Given the description of an element on the screen output the (x, y) to click on. 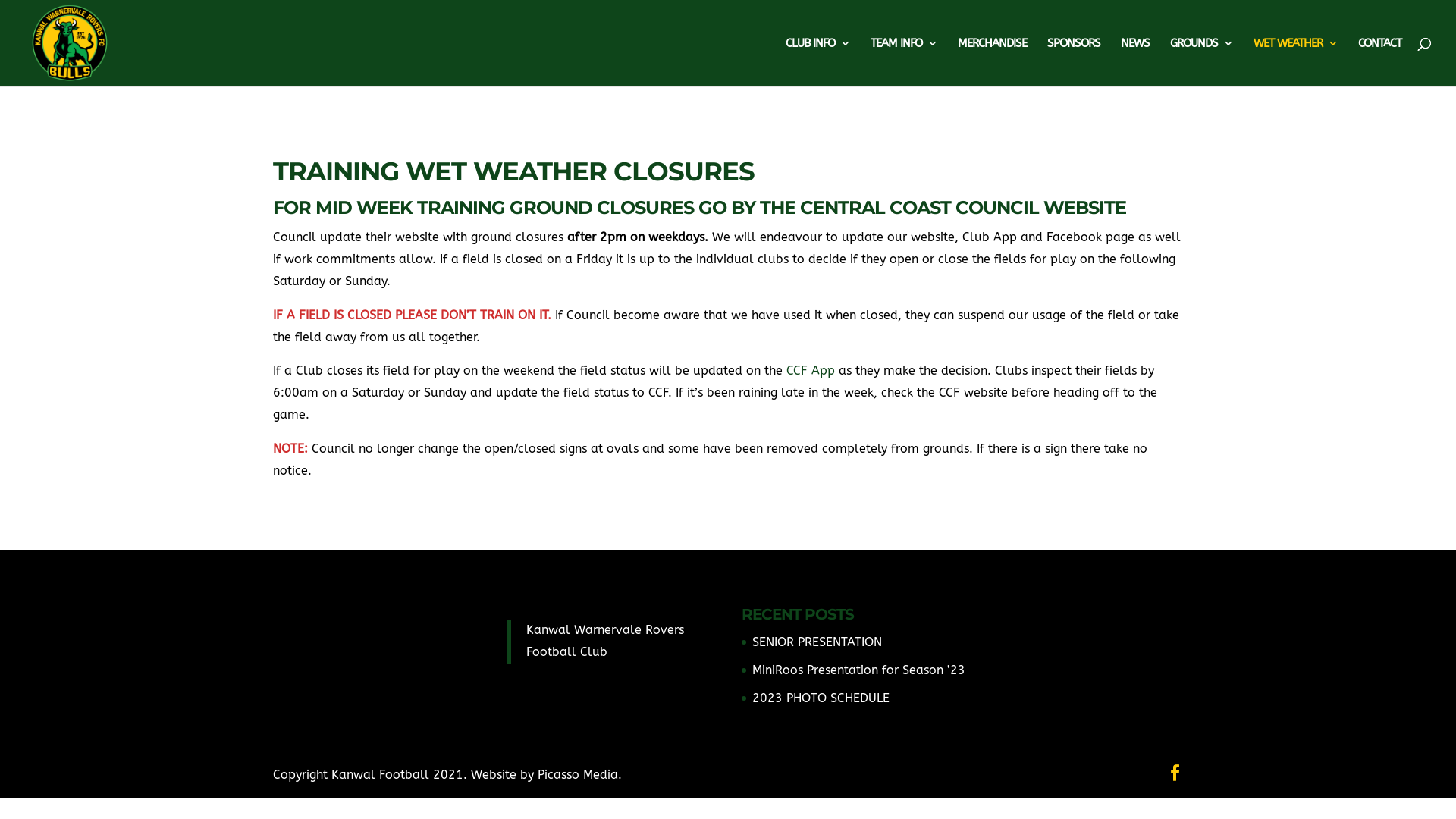
CENTRAL COAST COUNCIL WEBSITE Element type: text (963, 207)
TEAM INFO Element type: text (903, 61)
NEWS Element type: text (1134, 61)
SPONSORS Element type: text (1073, 61)
GROUNDS Element type: text (1201, 61)
Kanwal Warnervale Rovers Football Club Element type: text (605, 640)
CCF App Element type: text (810, 370)
CLUB INFO Element type: text (817, 61)
2023 PHOTO SCHEDULE Element type: text (820, 697)
WET WEATHER Element type: text (1295, 61)
CONTACT Element type: text (1379, 61)
SENIOR PRESENTATION Element type: text (816, 641)
MERCHANDISE Element type: text (991, 61)
